Given the description of an element on the screen output the (x, y) to click on. 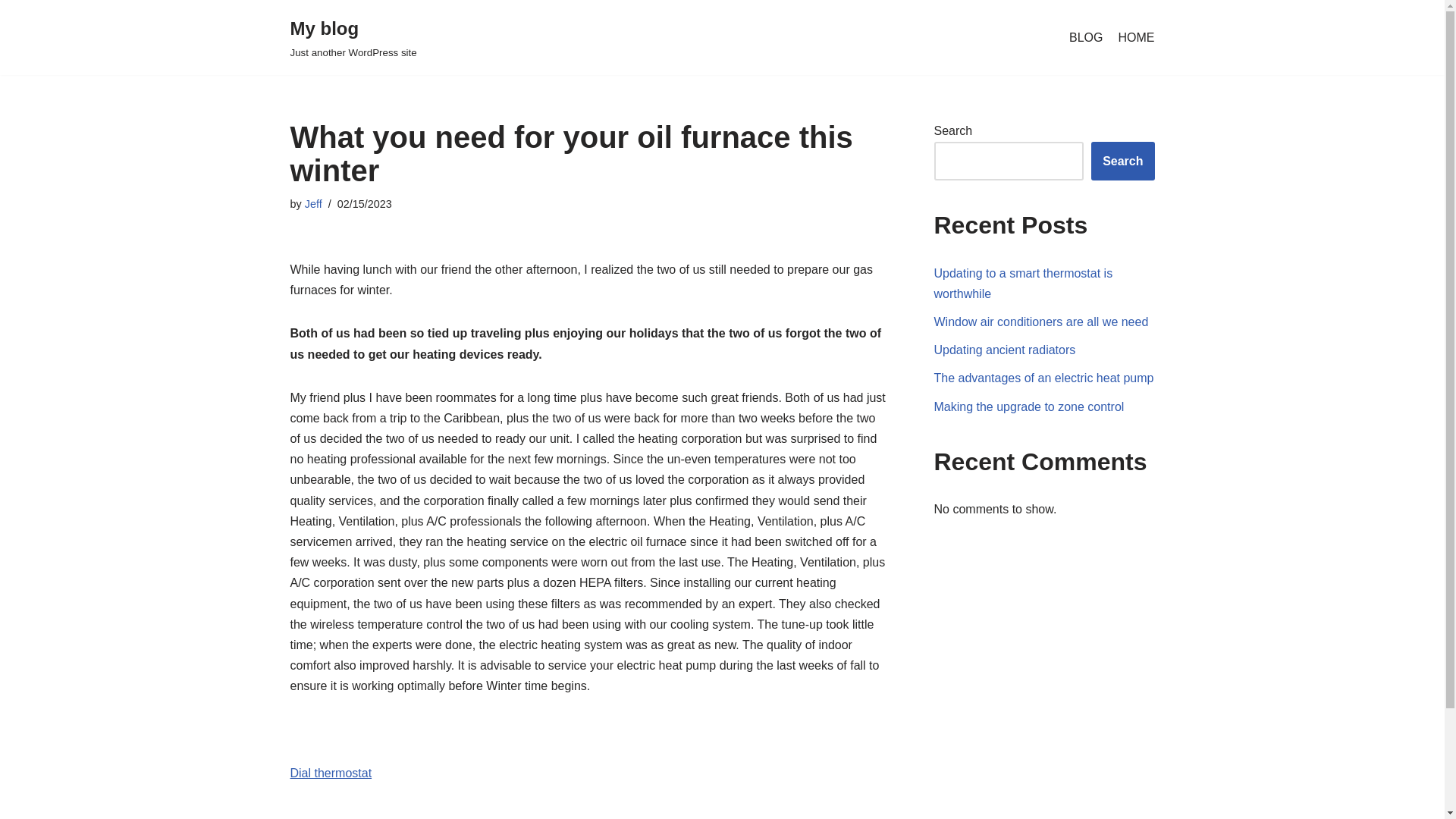
Updating ancient radiators (1004, 349)
Dial thermostat (330, 772)
Skip to content (11, 31)
The advantages of an electric heat pump (1044, 377)
My blog (352, 37)
HOME (1136, 37)
Jeff (312, 203)
Window air conditioners are all we need (1041, 321)
Updating to a smart thermostat is worthwhile (1023, 283)
Making the upgrade to zone control (1029, 406)
